Given the description of an element on the screen output the (x, y) to click on. 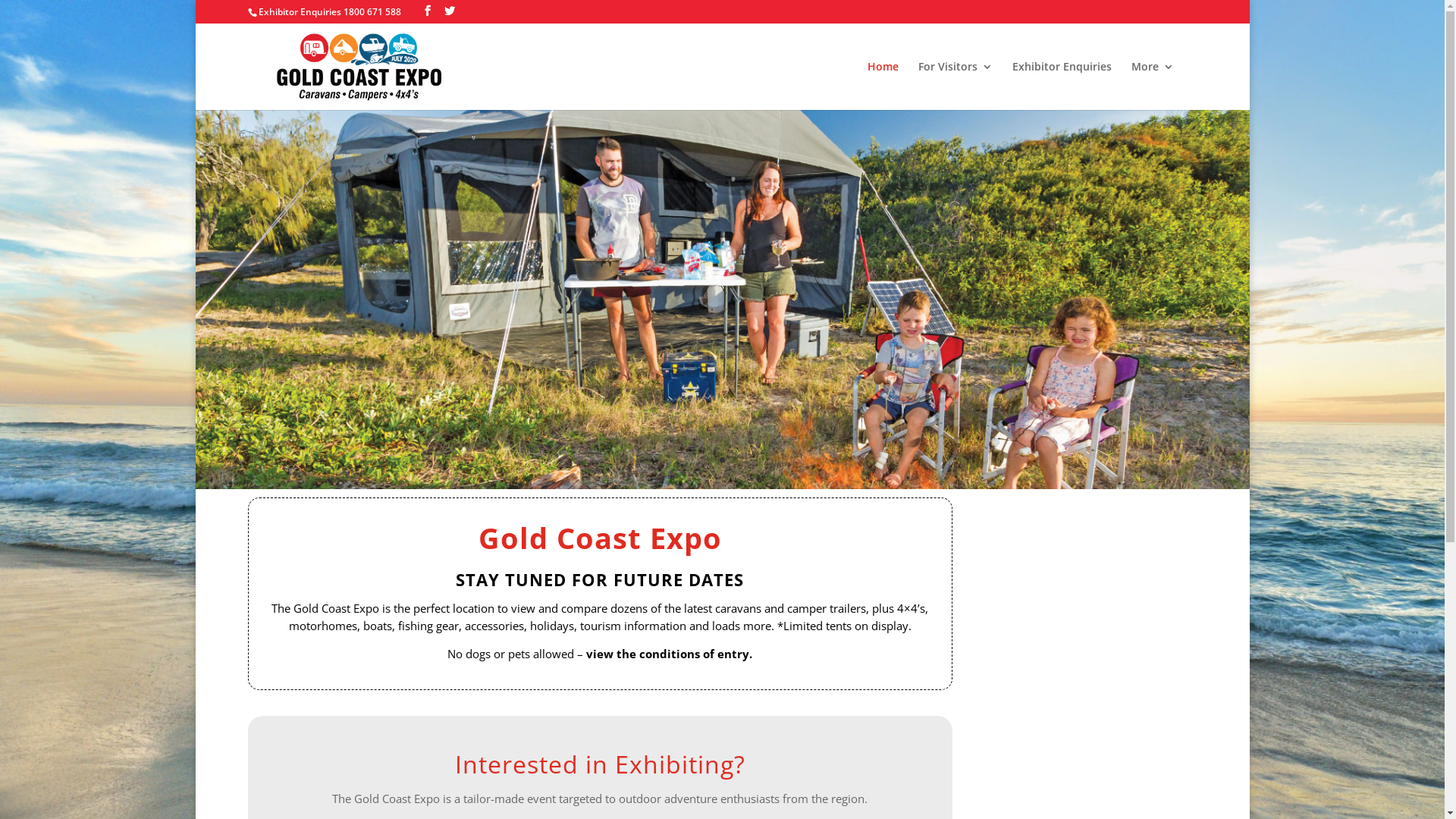
2 Element type: text (721, 458)
Home Element type: text (882, 85)
3 Element type: text (734, 458)
1 Element type: text (709, 458)
Exhibitor Enquiries Element type: text (1061, 85)
view the conditions of entry. Element type: text (669, 653)
For Visitors Element type: text (955, 85)
More Element type: text (1152, 85)
